Given the description of an element on the screen output the (x, y) to click on. 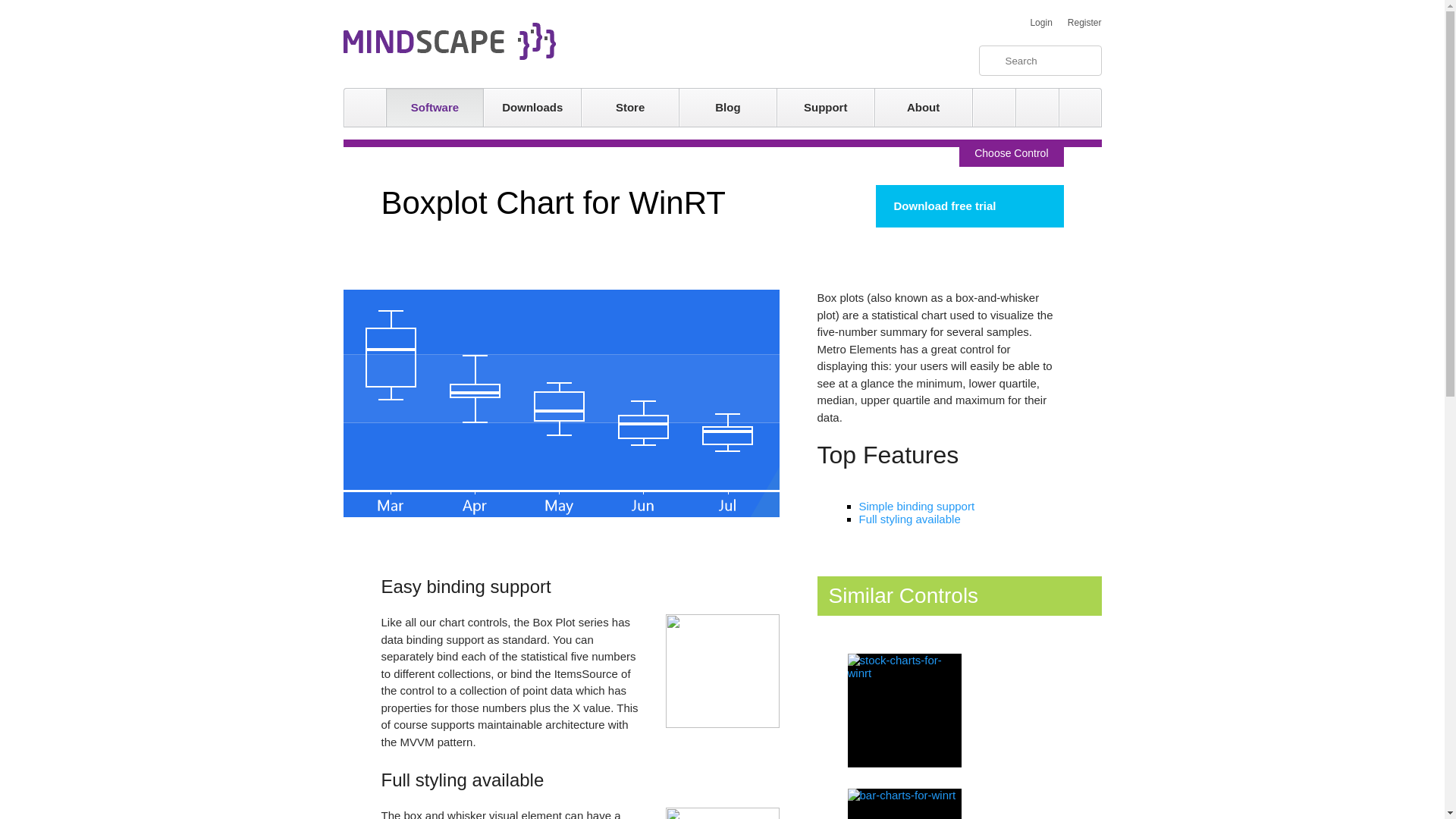
About (923, 107)
facebook (1079, 107)
Support (826, 107)
twitter (1037, 107)
Store (629, 107)
home (363, 107)
Like us on Facebook (1079, 107)
Software (435, 107)
Login (1040, 22)
Downloads (531, 107)
